Given the description of an element on the screen output the (x, y) to click on. 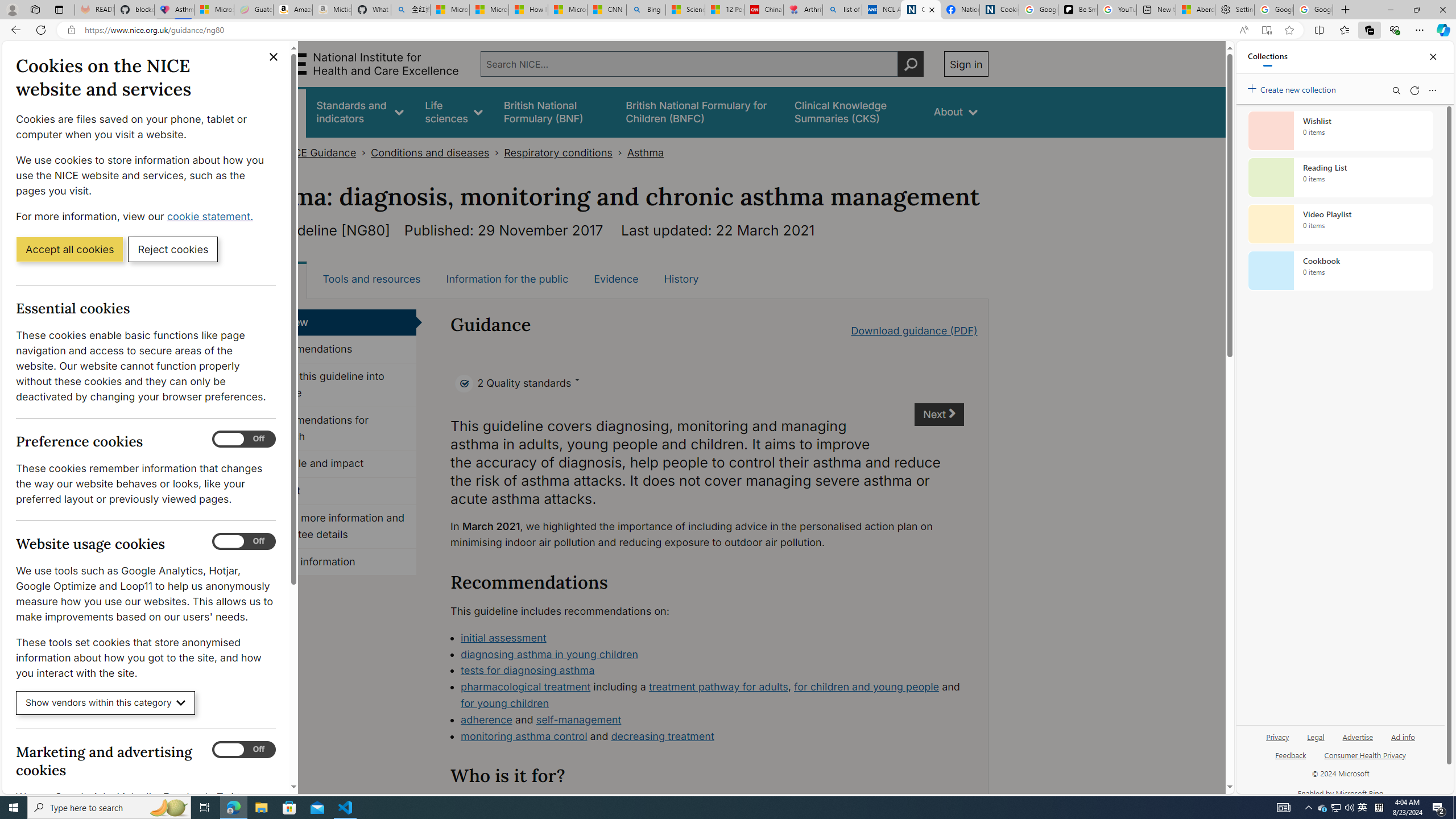
NICE Guidance> (326, 152)
Information for the public (507, 279)
adherence and self-management (711, 719)
Marketing and advertising cookies (243, 749)
History (681, 279)
initial assessment (503, 637)
Conditions and diseases> (437, 152)
Download guidance (PDF) (913, 330)
